Given the description of an element on the screen output the (x, y) to click on. 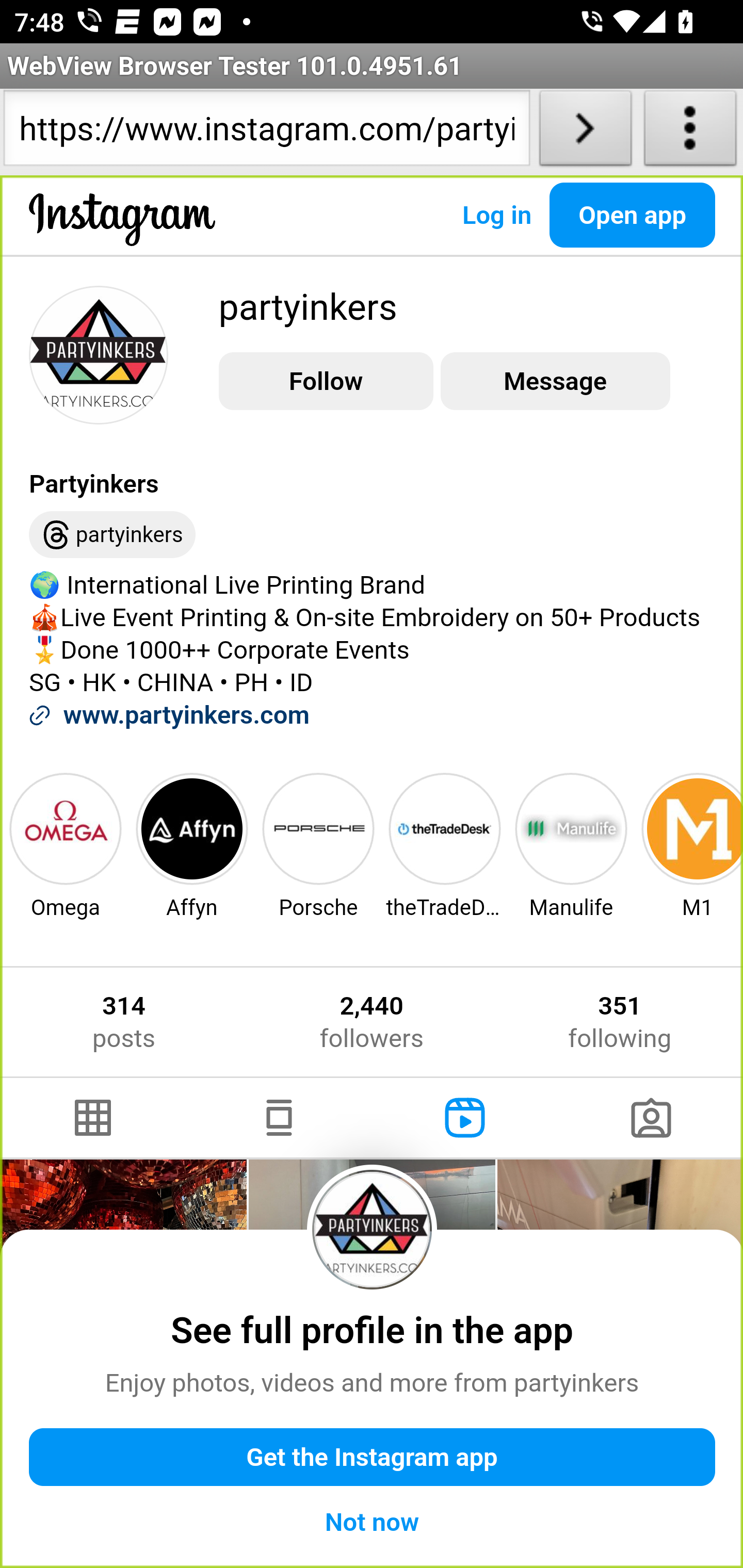
Load URL (585, 132)
About WebView (690, 132)
Log in (495, 214)
Open app (632, 214)
Instagram Instagram Instagram Instagram (122, 234)
partyinkers's profile picture (98, 353)
Follow (325, 381)
Message (554, 381)
Threads partyinkers Threads partyinkers (112, 535)
www.partyinkers.com (185, 714)
M1's profile picture M1 M1's profile picture M1 (690, 844)
314 posts (124, 1021)
2,440 followers (371, 1021)
351 following (619, 1021)
Posts (93, 1117)
Feed (278, 1117)
Reels (465, 1117)
Tagged (649, 1117)
partyinkers's profile picture (372, 1229)
Get the Instagram app (372, 1458)
Not now (372, 1521)
